Given the description of an element on the screen output the (x, y) to click on. 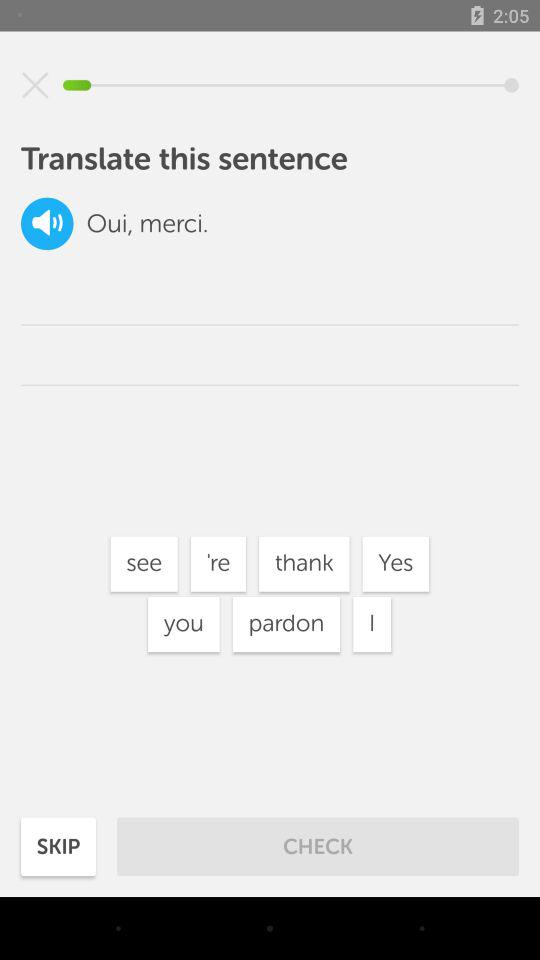
click the icon to the right of the you item (286, 624)
